Given the description of an element on the screen output the (x, y) to click on. 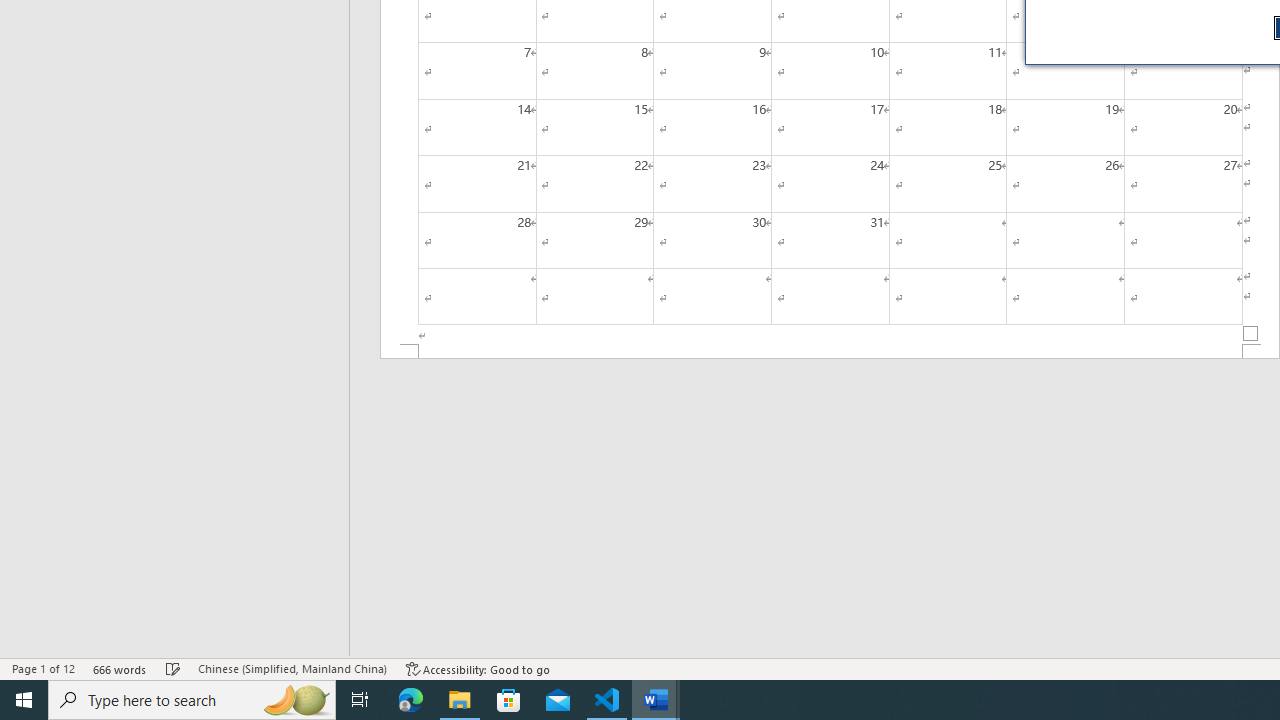
Word - 2 running windows (656, 699)
Word Count 666 words (119, 668)
Page Number Page 1 of 12 (43, 668)
File Explorer - 1 running window (460, 699)
Microsoft Edge (411, 699)
Search highlights icon opens search home window (295, 699)
Task View (359, 699)
Start (24, 699)
Spelling and Grammar Check Checking (173, 668)
Footer -Section 1- (830, 351)
Type here to search (191, 699)
Language Chinese (Simplified, Mainland China) (292, 668)
Accessibility Checker Accessibility: Good to go (478, 668)
Visual Studio Code - 1 running window (607, 699)
